Given the description of an element on the screen output the (x, y) to click on. 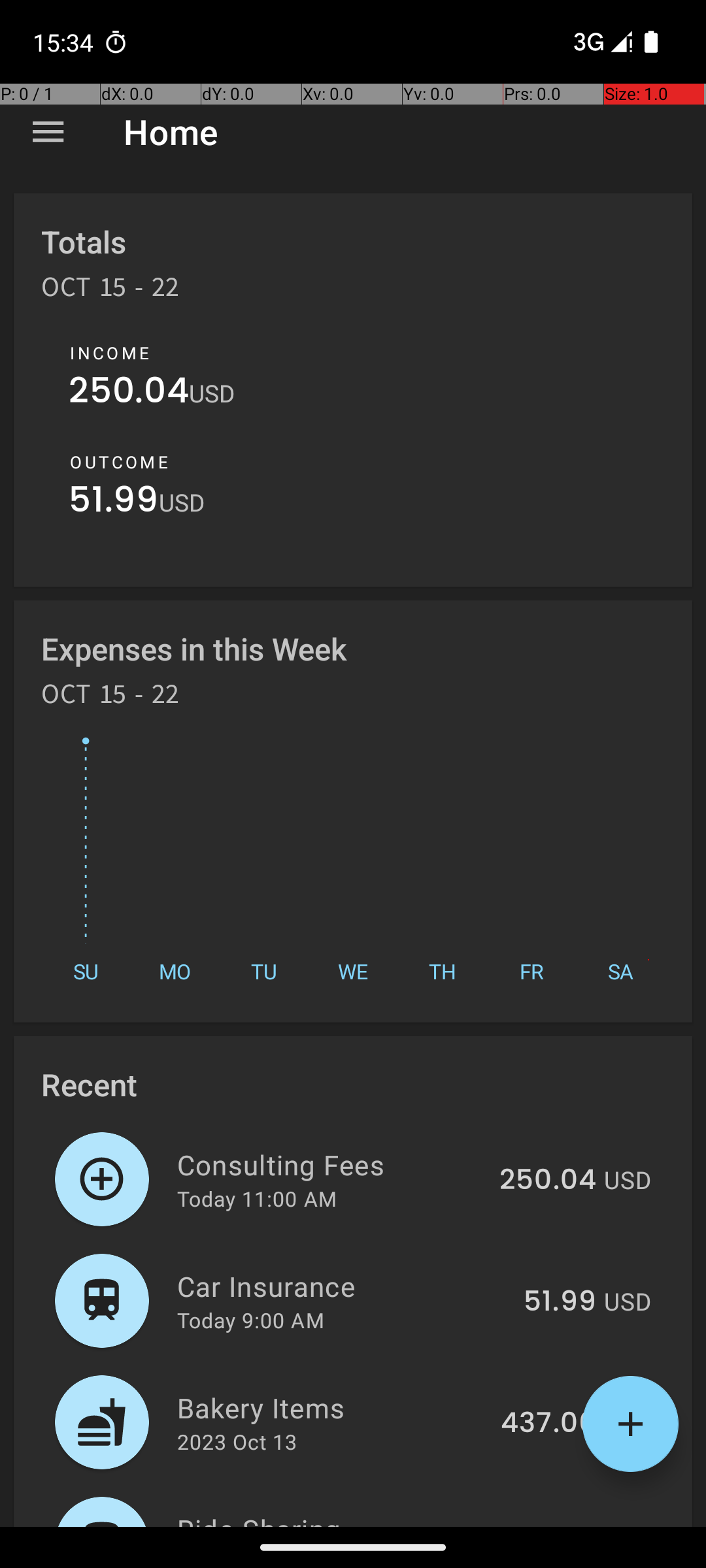
250.04 Element type: android.widget.TextView (128, 393)
51.99 Element type: android.widget.TextView (113, 502)
Today 11:00 AM Element type: android.widget.TextView (256, 1198)
Car Insurance Element type: android.widget.TextView (342, 1285)
Today 9:00 AM Element type: android.widget.TextView (250, 1320)
Bakery Items Element type: android.widget.TextView (331, 1407)
437.06 Element type: android.widget.TextView (548, 1423)
203.88 Element type: android.widget.TextView (548, 1524)
